Given the description of an element on the screen output the (x, y) to click on. 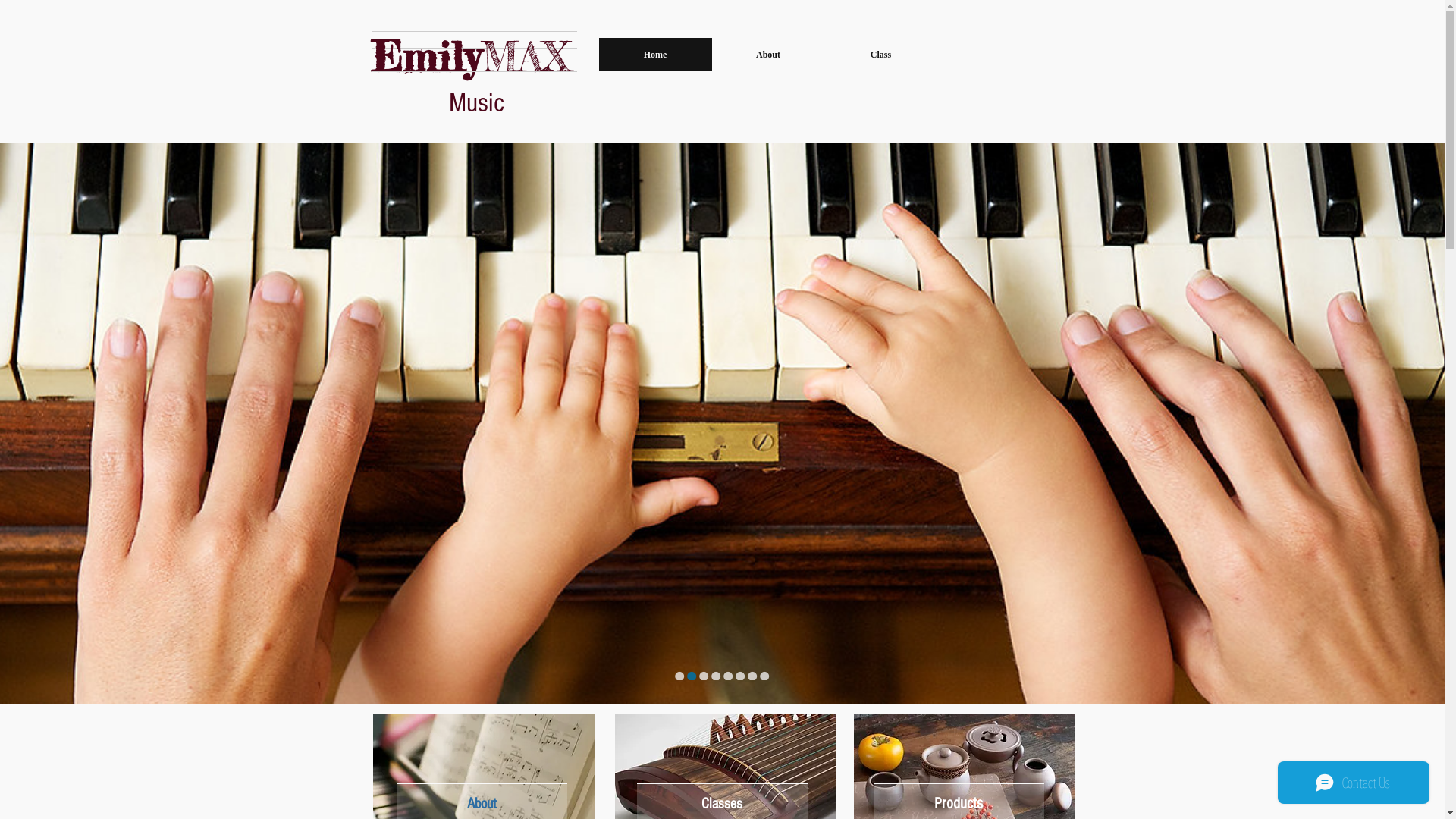
Home Element type: text (655, 54)
About Element type: text (767, 54)
Class Element type: text (881, 54)
EmilyMAX Element type: text (470, 56)
